Given the description of an element on the screen output the (x, y) to click on. 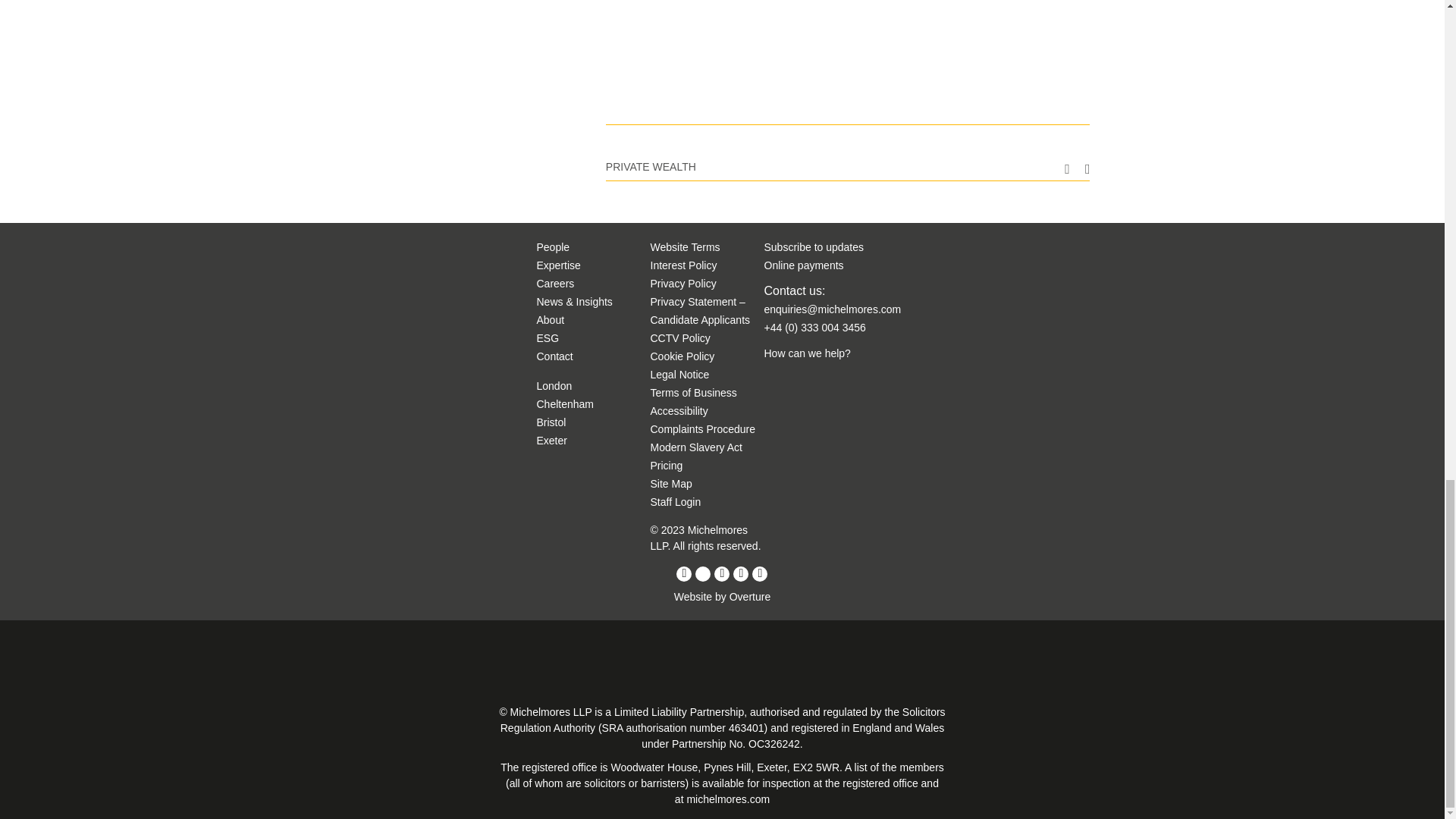
Careers (556, 283)
Expertise (558, 265)
Interest Policy (683, 265)
Website Terms (685, 246)
Bristol (551, 422)
About (550, 319)
People (553, 246)
PRIVATE WEALTH (650, 166)
Cheltenham (565, 404)
London (554, 386)
Contact (555, 356)
ESG (548, 337)
Privacy Policy (683, 283)
Exeter (552, 440)
